Given the description of an element on the screen output the (x, y) to click on. 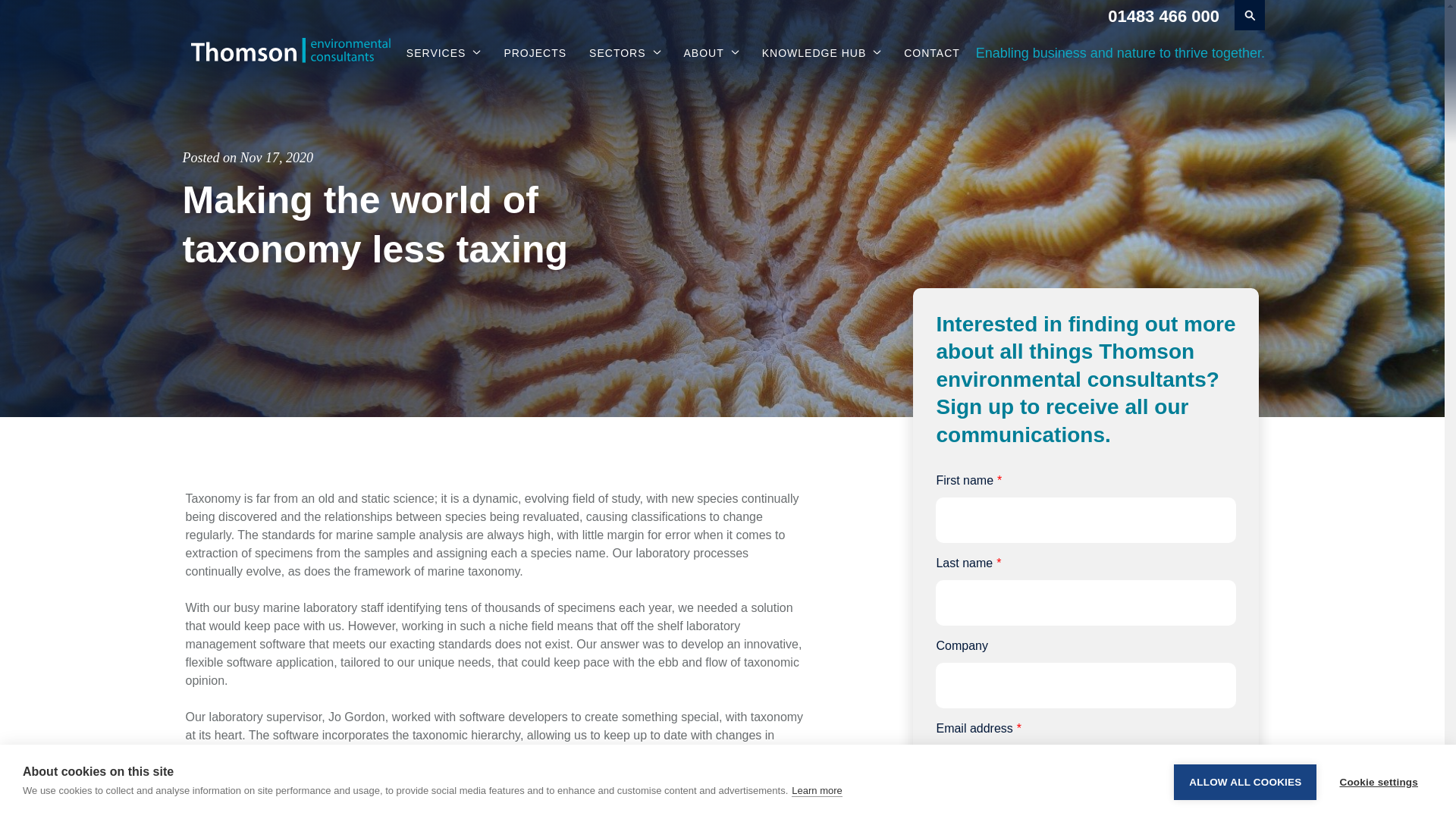
Cookie settings (1377, 803)
search (1249, 15)
SERVICES (443, 53)
ALLOW ALL COOKIES (1244, 811)
